Given the description of an element on the screen output the (x, y) to click on. 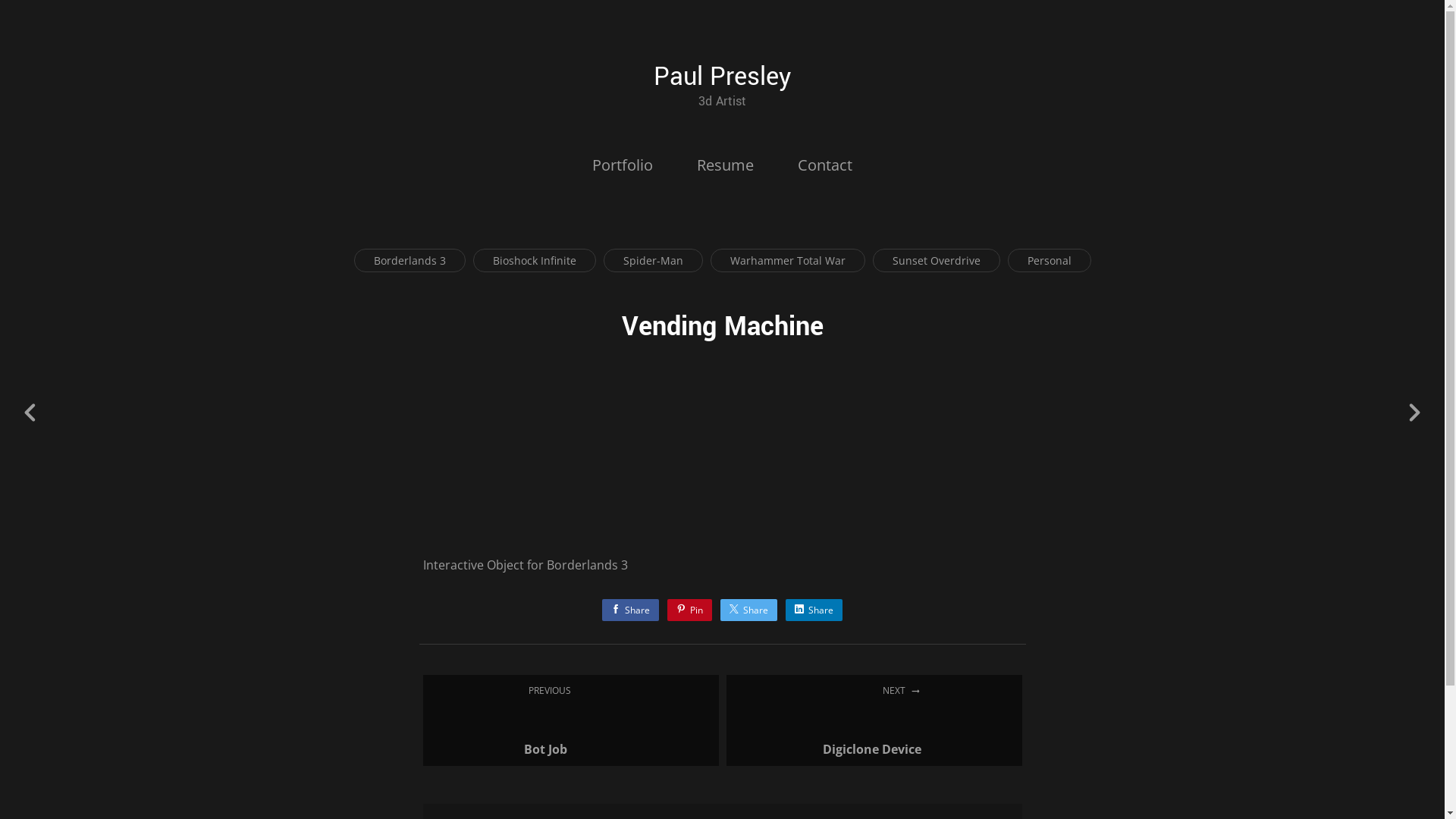
Paul Presley Element type: text (721, 76)
Spider-Man Element type: text (652, 260)
Share Element type: text (630, 610)
Personal Element type: text (1048, 260)
Share Element type: text (748, 610)
Sunset Overdrive Element type: text (935, 260)
Bioshock Infinite Element type: text (534, 260)
NEXT
Digiclone Device Element type: text (874, 719)
PREVIOUS
Bot Job Element type: text (570, 719)
Share Element type: text (813, 610)
Portfolio Element type: text (622, 164)
Pin Element type: text (689, 610)
Borderlands 3 Element type: text (408, 260)
Resume Element type: text (724, 164)
Contact Element type: text (824, 164)
Warhammer Total War Element type: text (786, 260)
